Given the description of an element on the screen output the (x, y) to click on. 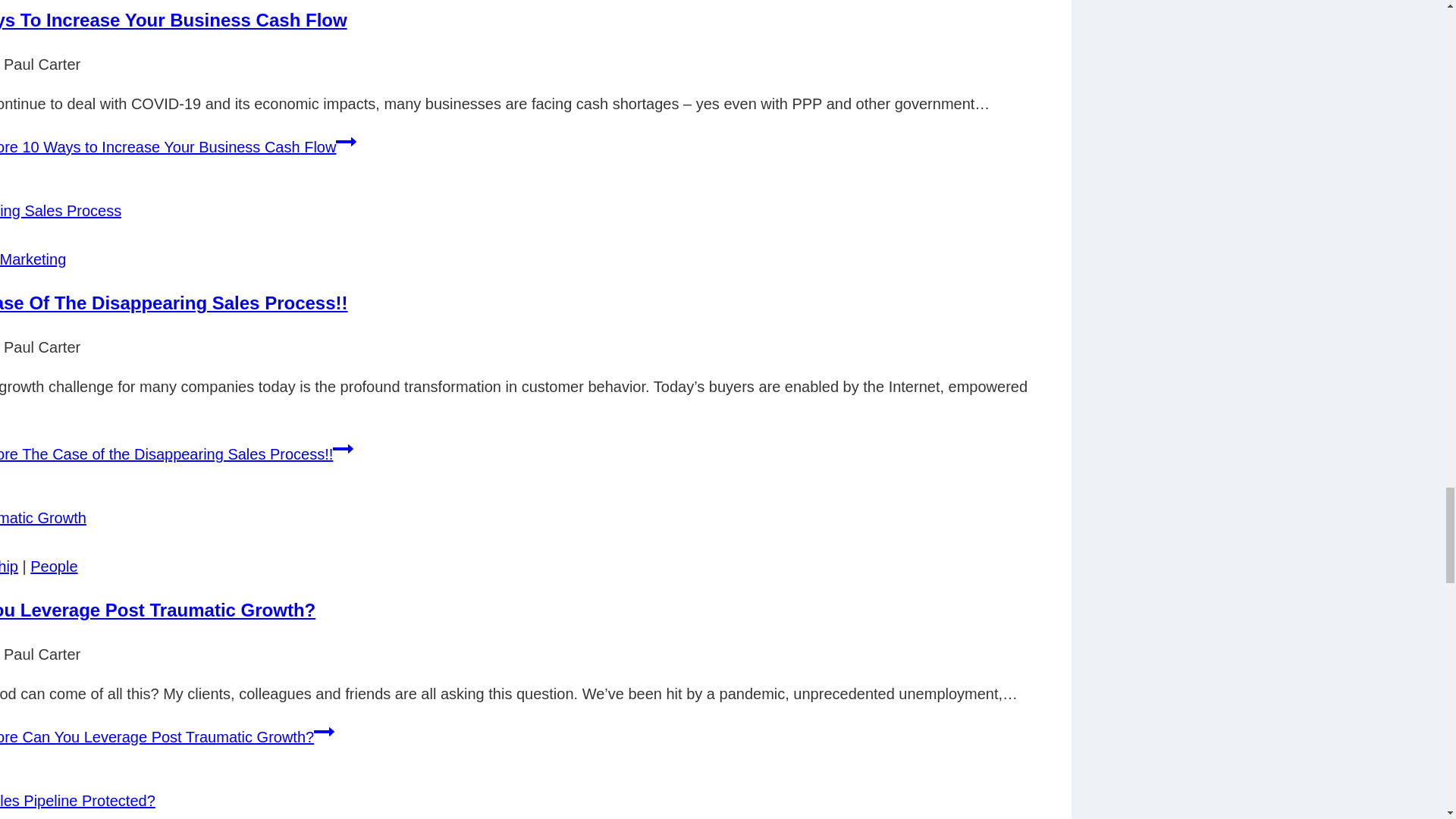
Read More Can You Leverage Post Traumatic Growth?Continue (167, 736)
Can You Leverage Post Traumatic Growth? (157, 609)
The Case Of The Disappearing Sales Process!! (173, 302)
Leadership (8, 565)
Continue (343, 448)
People (53, 565)
Continue (324, 731)
Continue (346, 141)
10 Ways To Increase Your Business Cash Flow (173, 19)
